Given the description of an element on the screen output the (x, y) to click on. 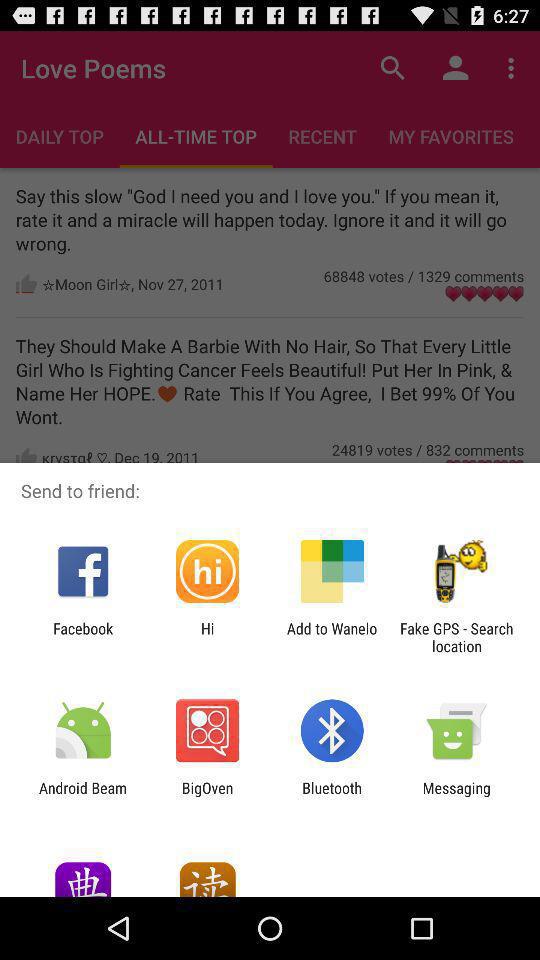
swipe to bigoven (207, 796)
